Given the description of an element on the screen output the (x, y) to click on. 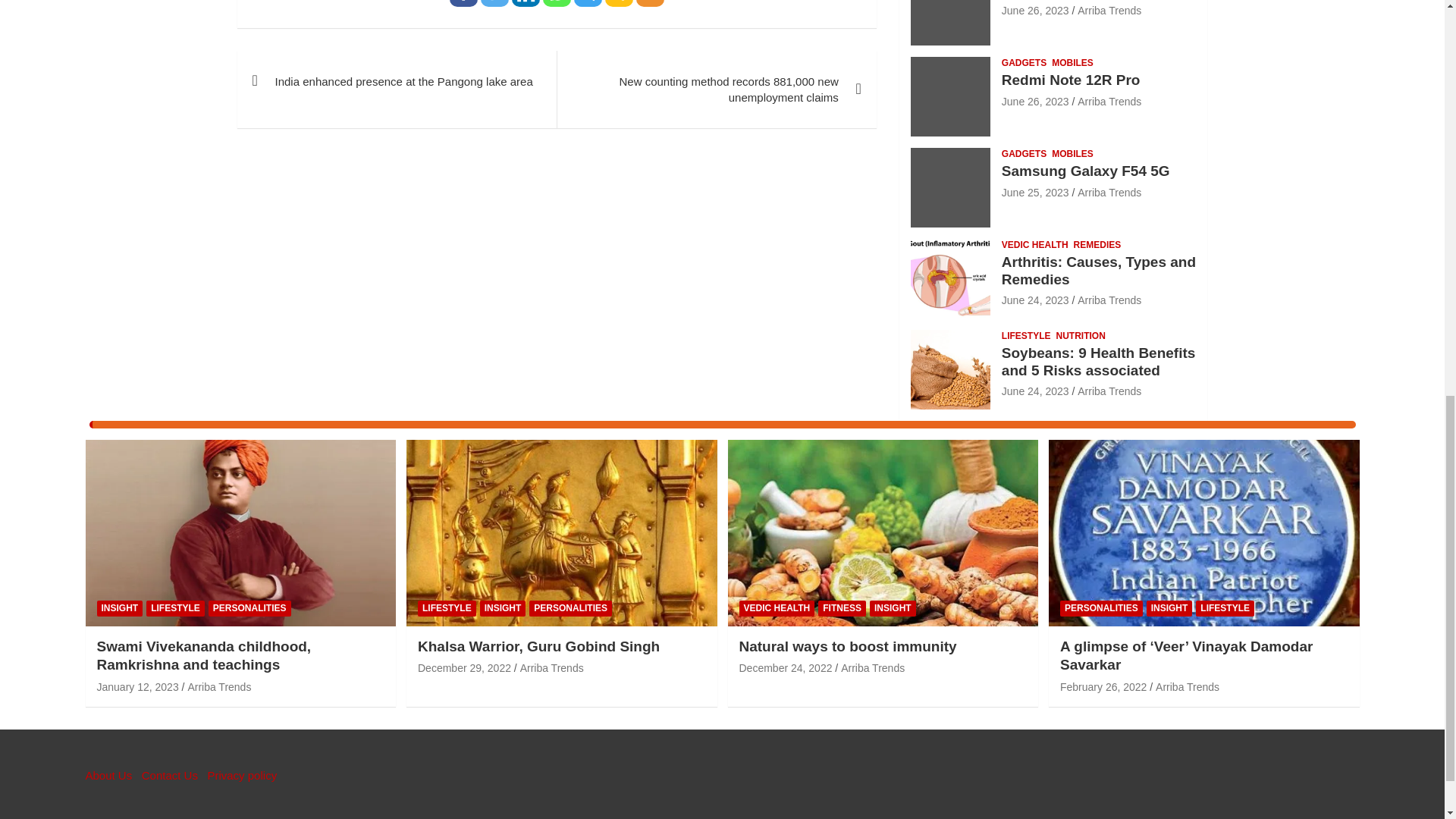
Whatsapp (556, 3)
LinkedIn (526, 3)
Telegram (587, 3)
Copy Link (619, 3)
More (649, 3)
New counting method records 881,000 new unemployment claims (716, 88)
Twitter (494, 3)
India enhanced presence at the Pangong lake area (395, 81)
Facebook (463, 3)
